Given the description of an element on the screen output the (x, y) to click on. 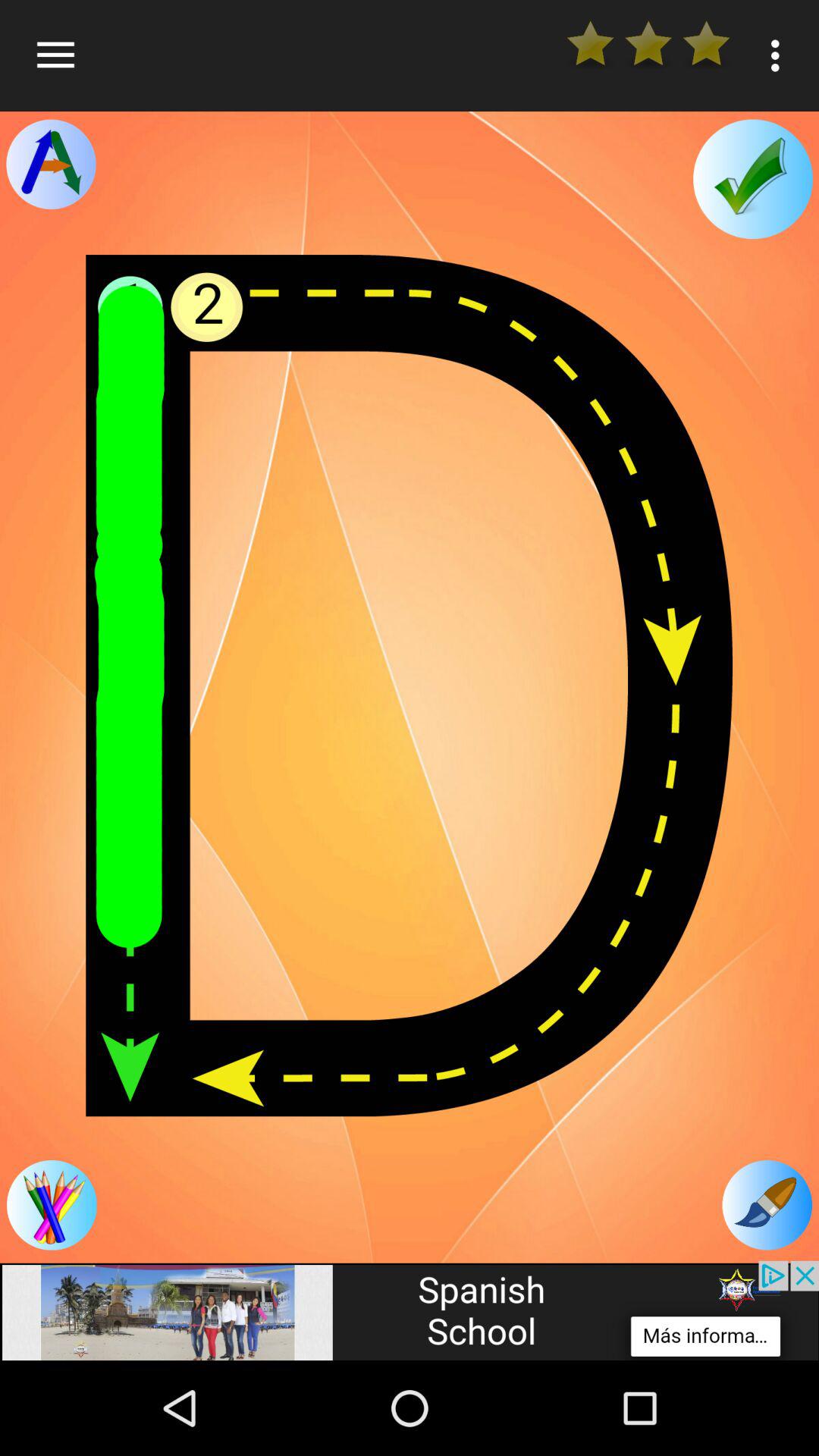
correct (752, 178)
